Given the description of an element on the screen output the (x, y) to click on. 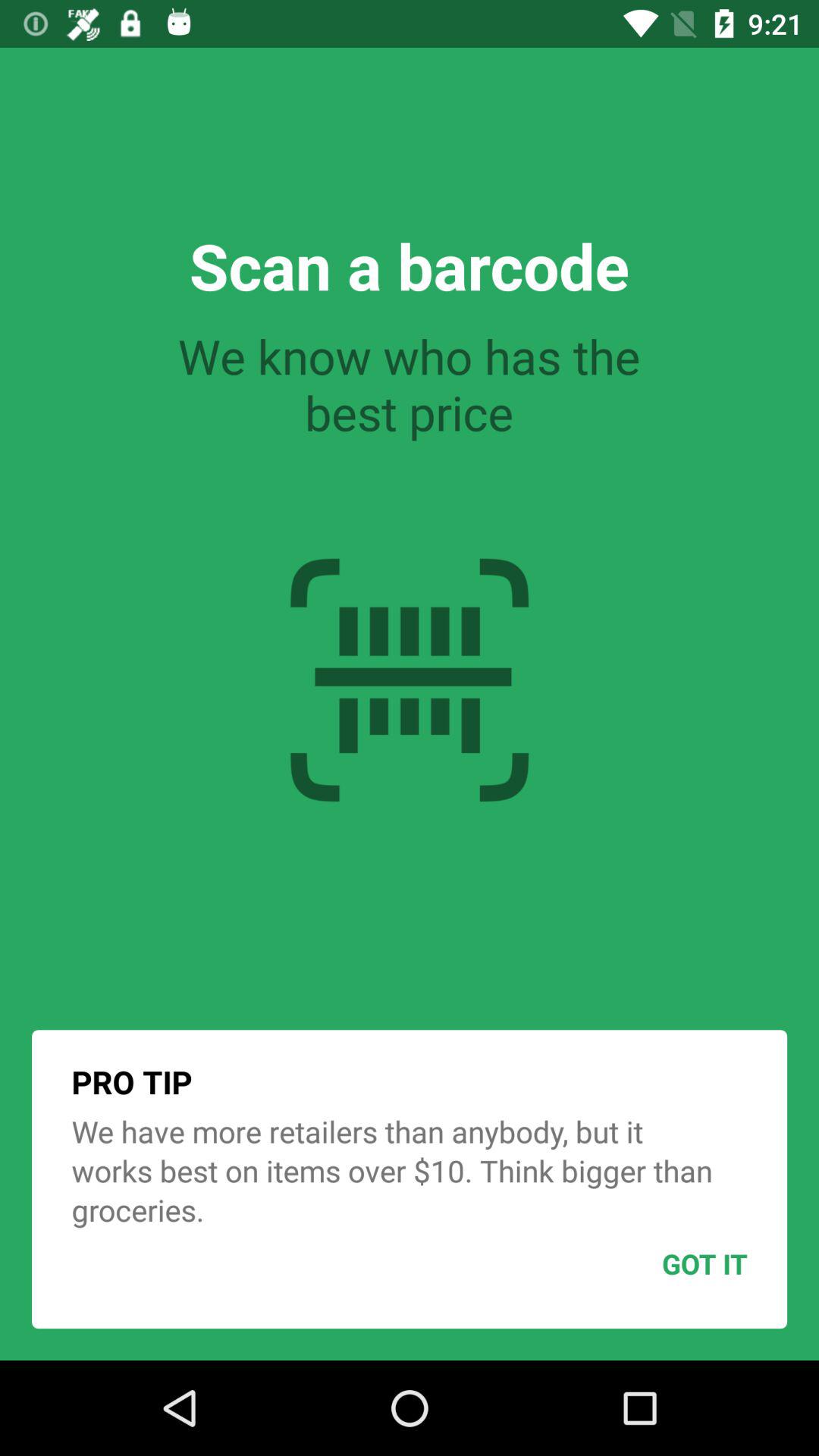
scroll until the got it (667, 1263)
